Given the description of an element on the screen output the (x, y) to click on. 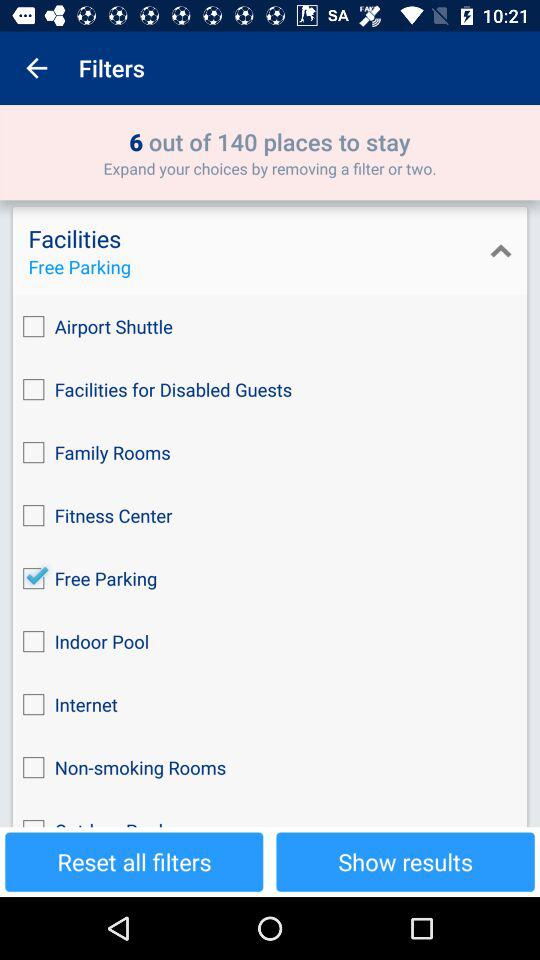
tap the icon below airport shuttle icon (269, 389)
